Given the description of an element on the screen output the (x, y) to click on. 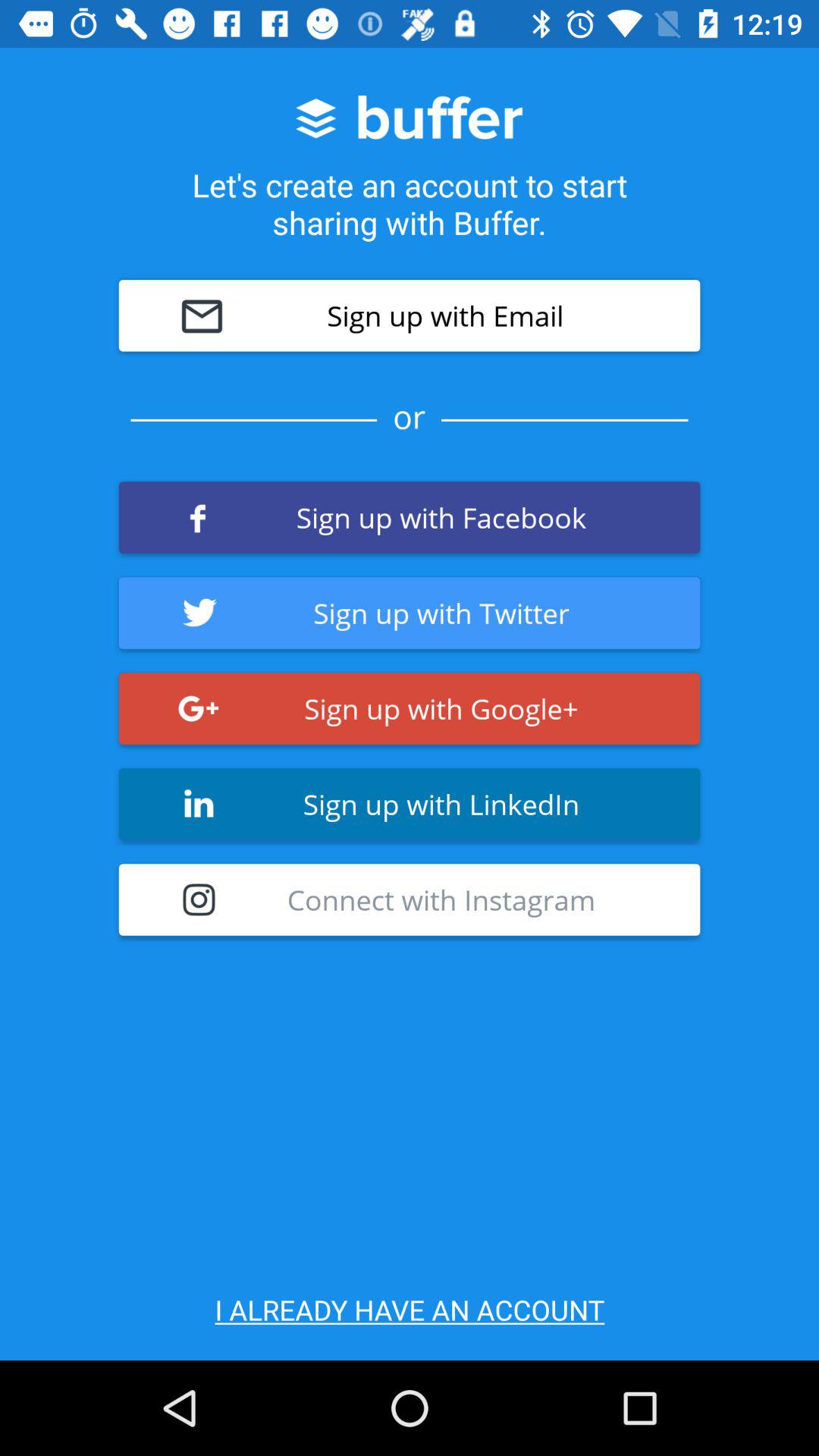
turn on connect with instagram item (409, 899)
